Given the description of an element on the screen output the (x, y) to click on. 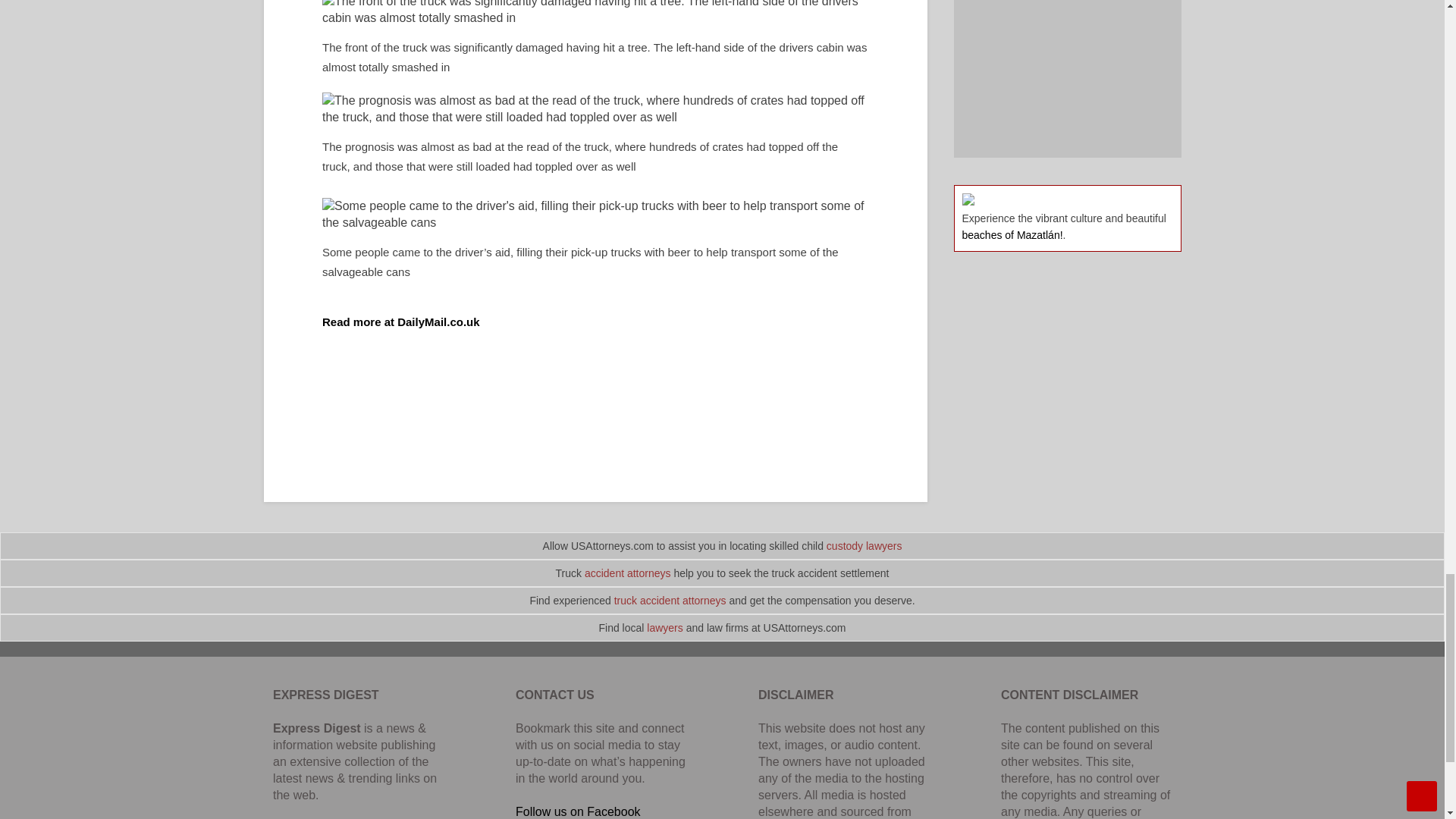
accident attorneys (628, 573)
truck accident attorneys (670, 600)
Read more at DailyMail.co.uk (400, 321)
custody lawyers (864, 545)
lawyers (664, 627)
